Given the description of an element on the screen output the (x, y) to click on. 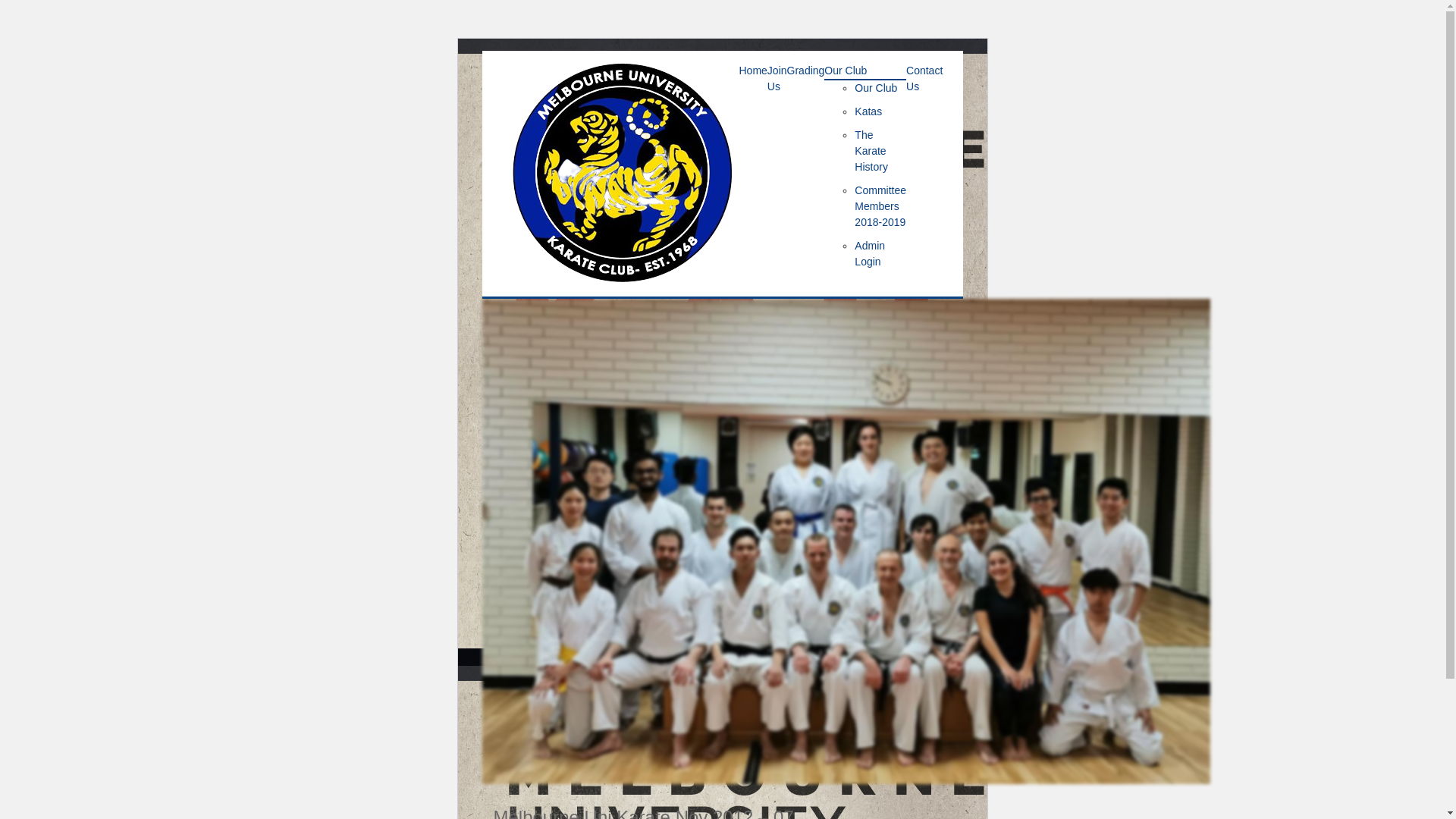
Our Club Element type: text (845, 69)
Committee Members 2018-2019 Element type: text (880, 205)
Home Element type: text (752, 69)
Katas Element type: text (867, 110)
Our Club Element type: text (875, 87)
Grading Element type: text (806, 69)
Skip to content Element type: text (480, 50)
The Karate History Element type: text (871, 150)
Contact Us Element type: text (924, 77)
Admin Login Element type: text (869, 253)
Join Us Element type: text (777, 77)
